Given the description of an element on the screen output the (x, y) to click on. 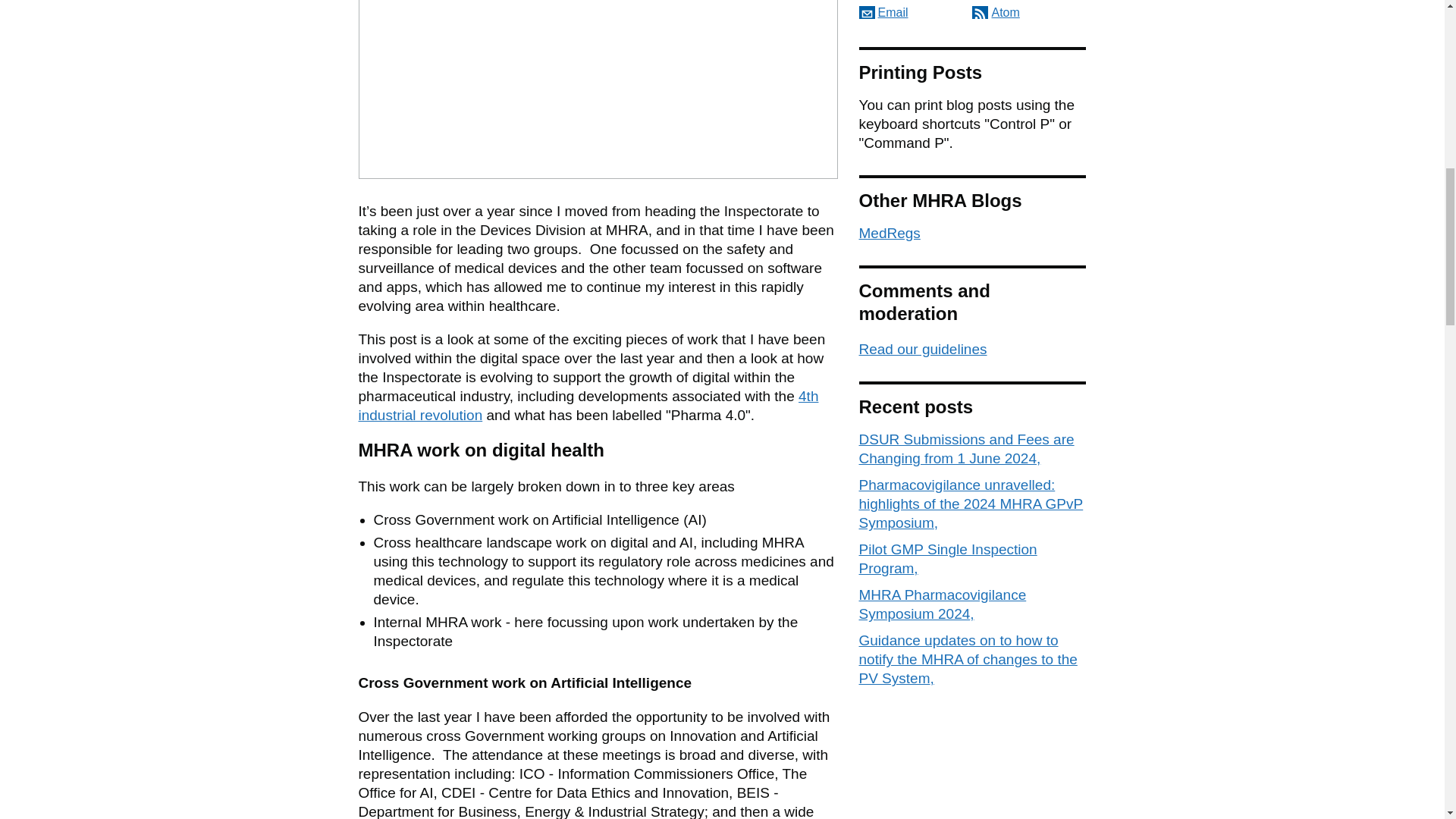
Atom (995, 11)
MedRegs (889, 232)
Email (883, 11)
4th industrial revolution (588, 405)
